Given the description of an element on the screen output the (x, y) to click on. 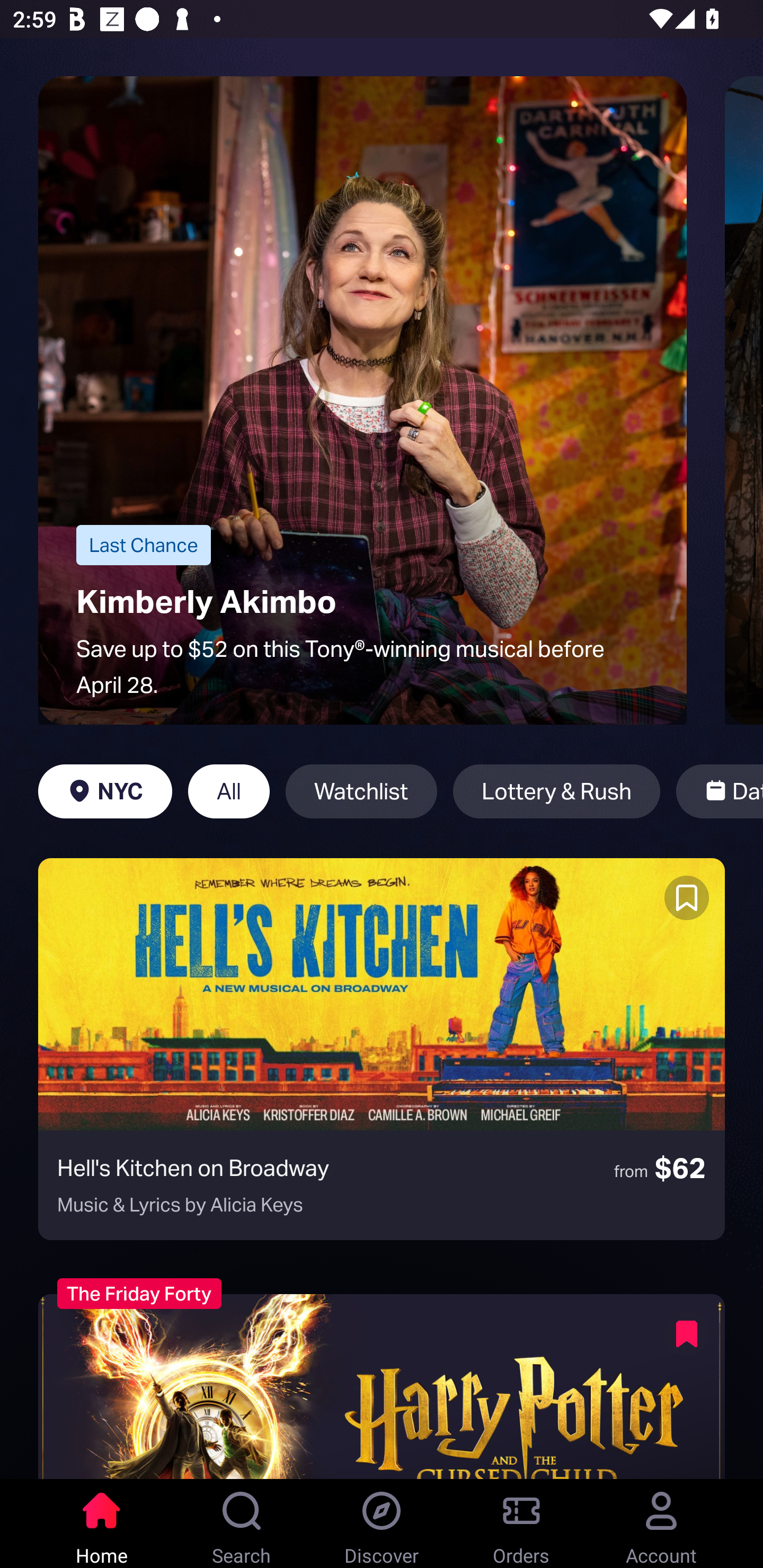
NYC (105, 791)
All (228, 791)
Watchlist (361, 791)
Lottery & Rush (556, 791)
Search (241, 1523)
Discover (381, 1523)
Orders (521, 1523)
Account (660, 1523)
